Given the description of an element on the screen output the (x, y) to click on. 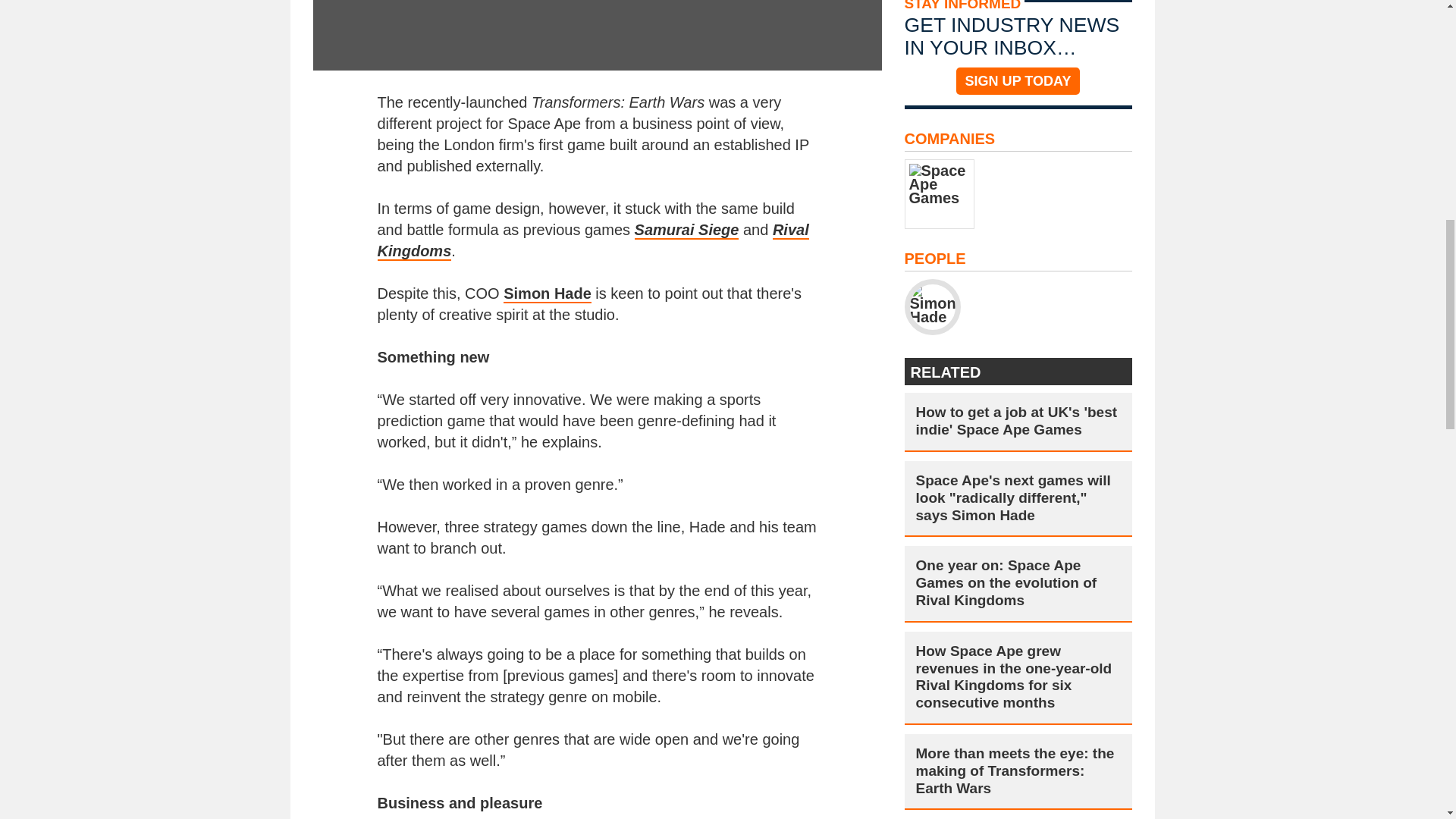
Rival Kingdoms (593, 241)
How to get a job at UK's 'best indie' Space Ape Games (1017, 421)
Simon Hade (547, 294)
Samurai Siege (686, 230)
